Given the description of an element on the screen output the (x, y) to click on. 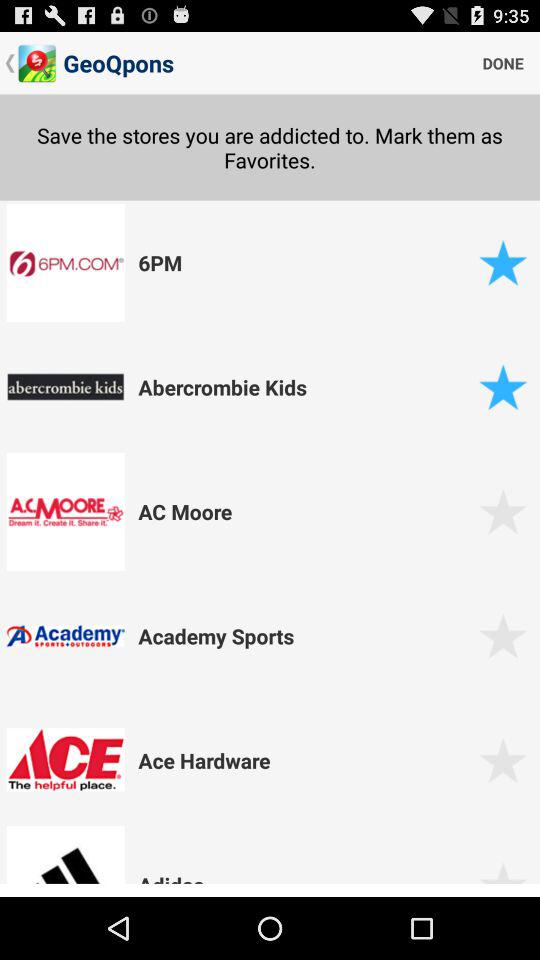
choose the item next to geoqpons item (503, 62)
